Given the description of an element on the screen output the (x, y) to click on. 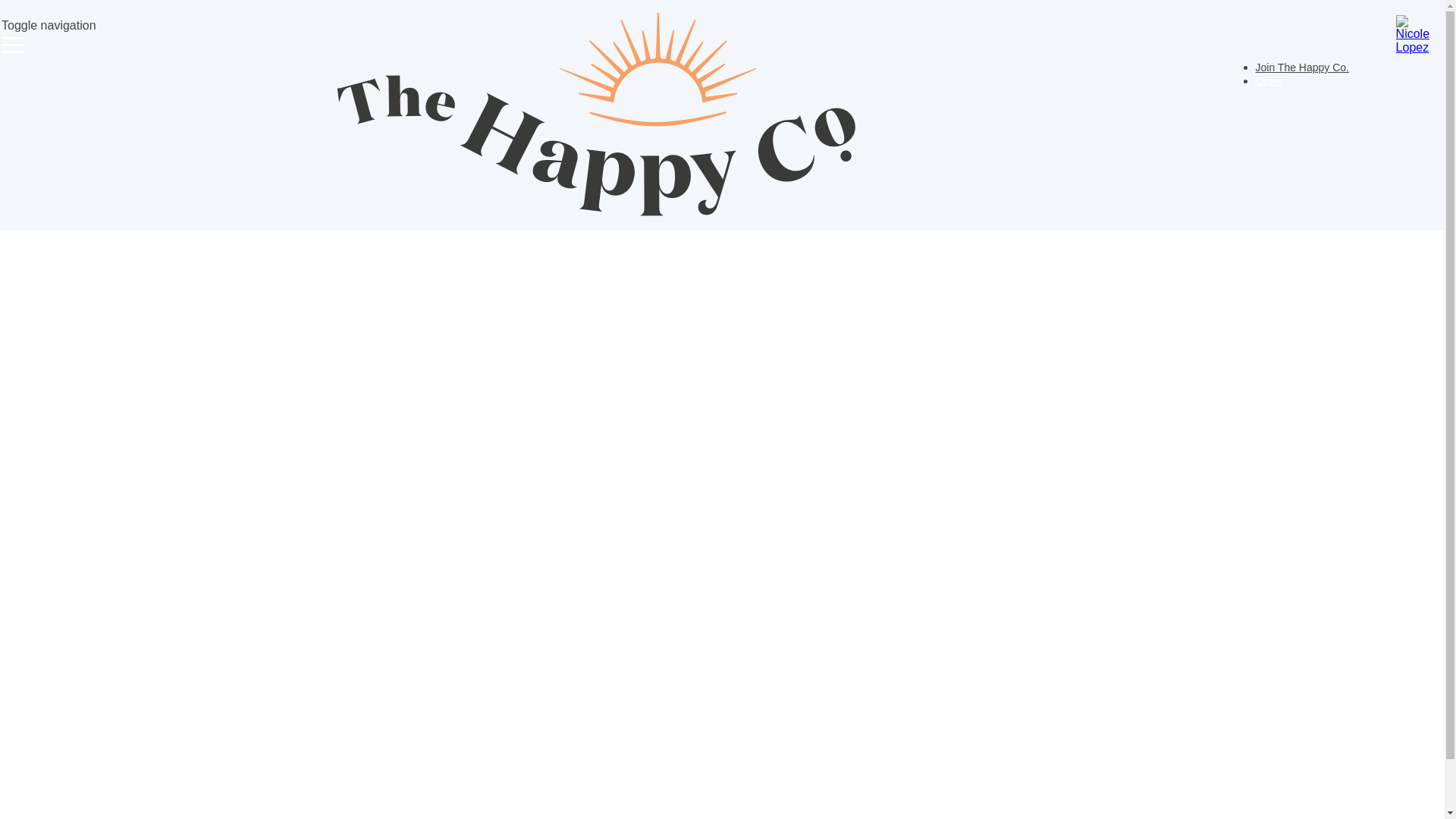
Join The Happy Co. Element type: text (1302, 67)
Nicole Lopez Element type: hover (1414, 34)
Order Element type: text (1269, 81)
